Given the description of an element on the screen output the (x, y) to click on. 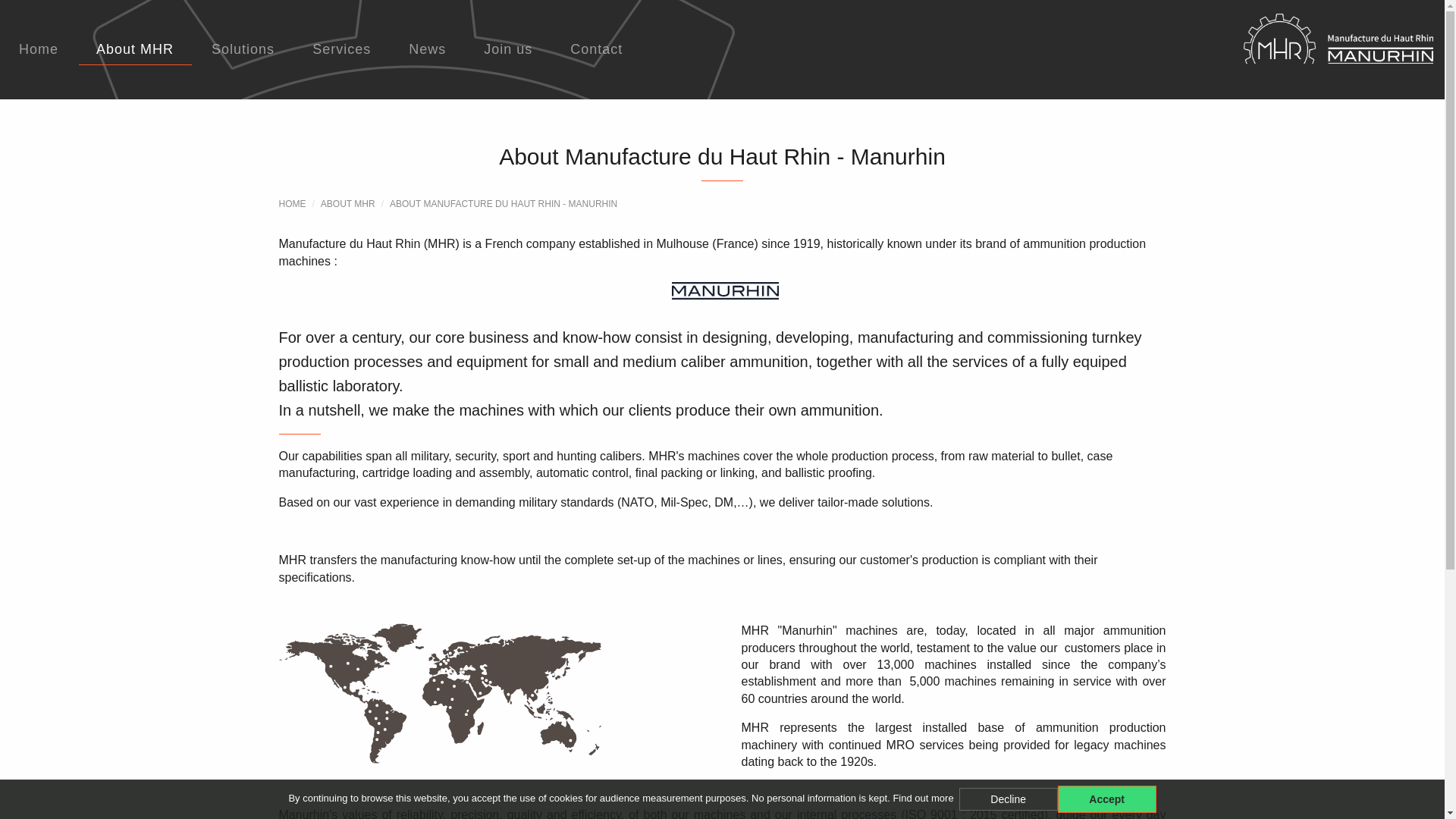
HOME (292, 204)
Decline (1008, 798)
Manufacture du Haut Rhin (1203, 49)
About MHR (347, 204)
Accept (1107, 799)
Home (292, 204)
Find out more (922, 797)
Home (38, 49)
About MHR (134, 49)
Join us (507, 49)
About Manufacture du Haut Rhin - Manurhin (503, 204)
ABOUT MHR (347, 204)
News (427, 49)
ABOUT MANUFACTURE DU HAUT RHIN - MANURHIN (503, 204)
Services (342, 49)
